Given the description of an element on the screen output the (x, y) to click on. 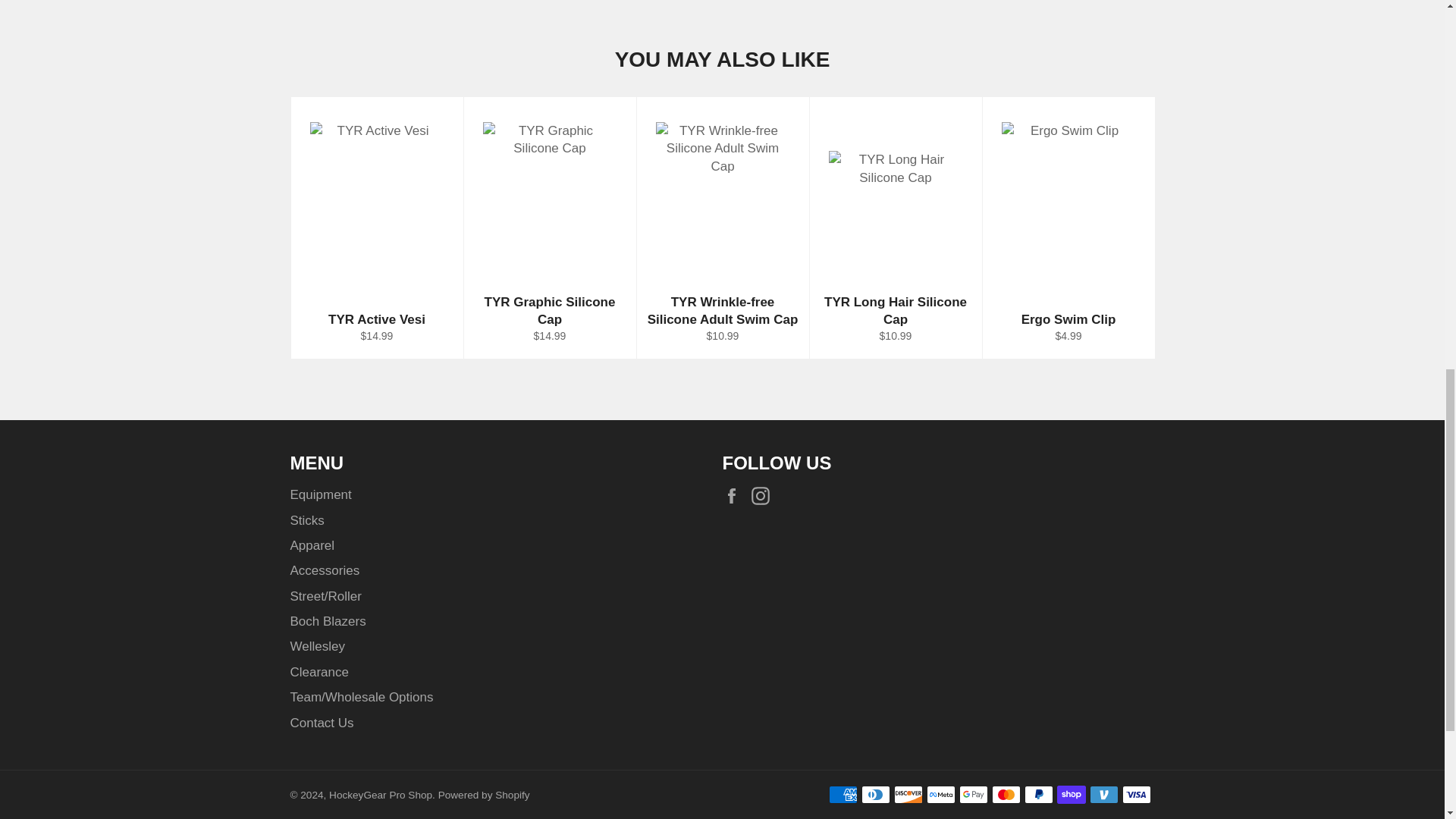
HockeyGear Pro Shop on Facebook (735, 495)
HockeyGear Pro Shop on Instagram (764, 495)
